Given the description of an element on the screen output the (x, y) to click on. 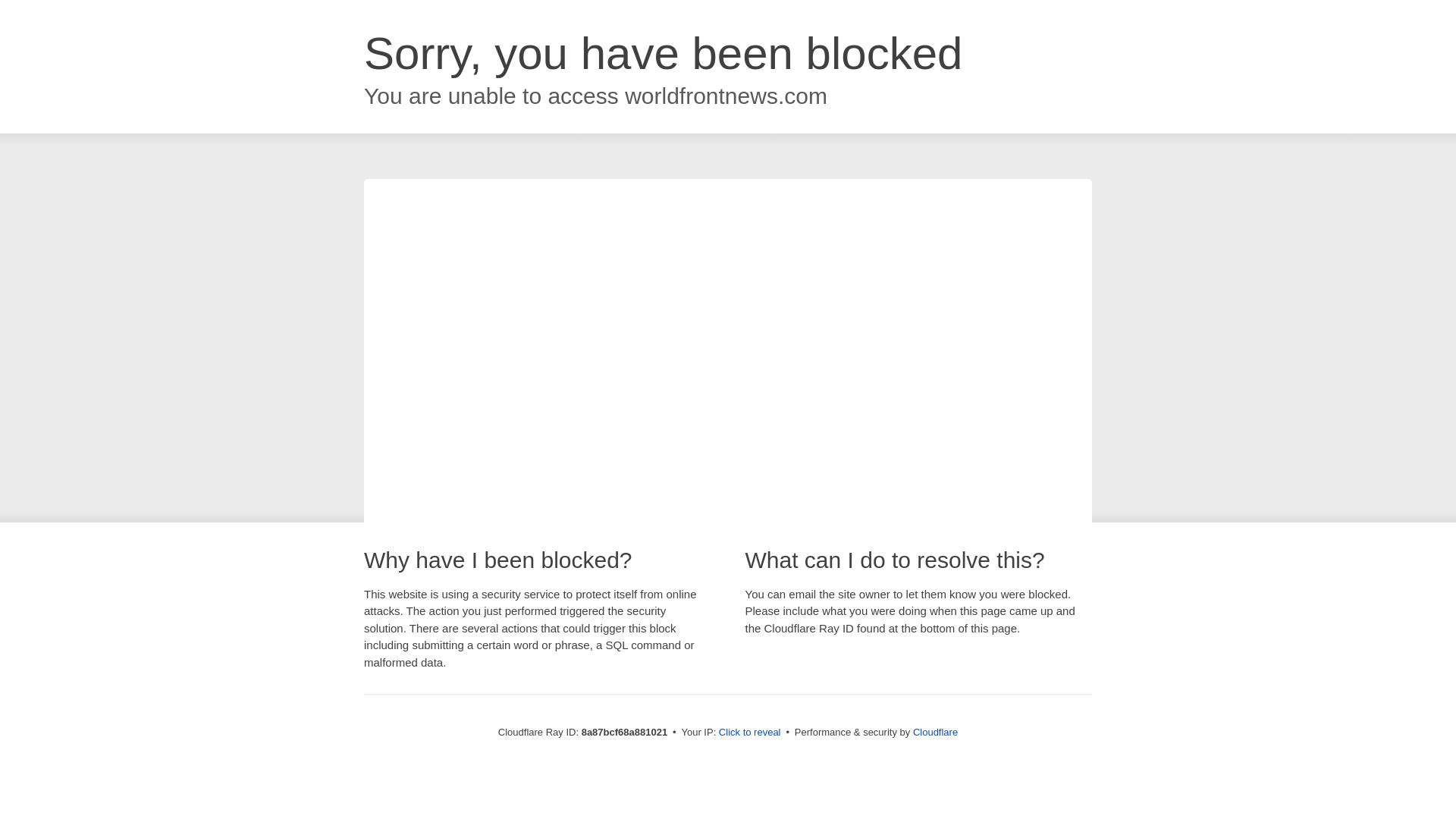
Click to reveal (749, 732)
Cloudflare (935, 731)
